Given the description of an element on the screen output the (x, y) to click on. 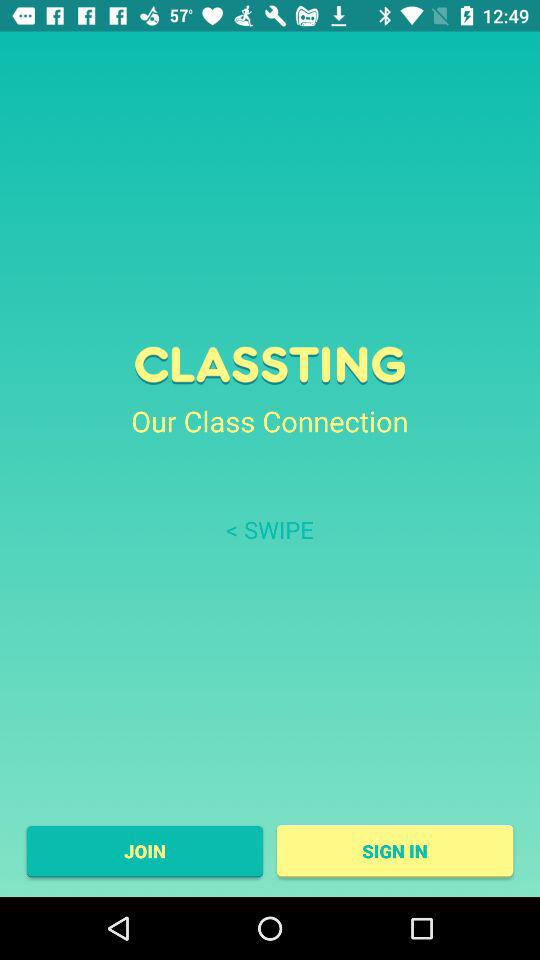
turn off item to the right of the join item (394, 851)
